Given the description of an element on the screen output the (x, y) to click on. 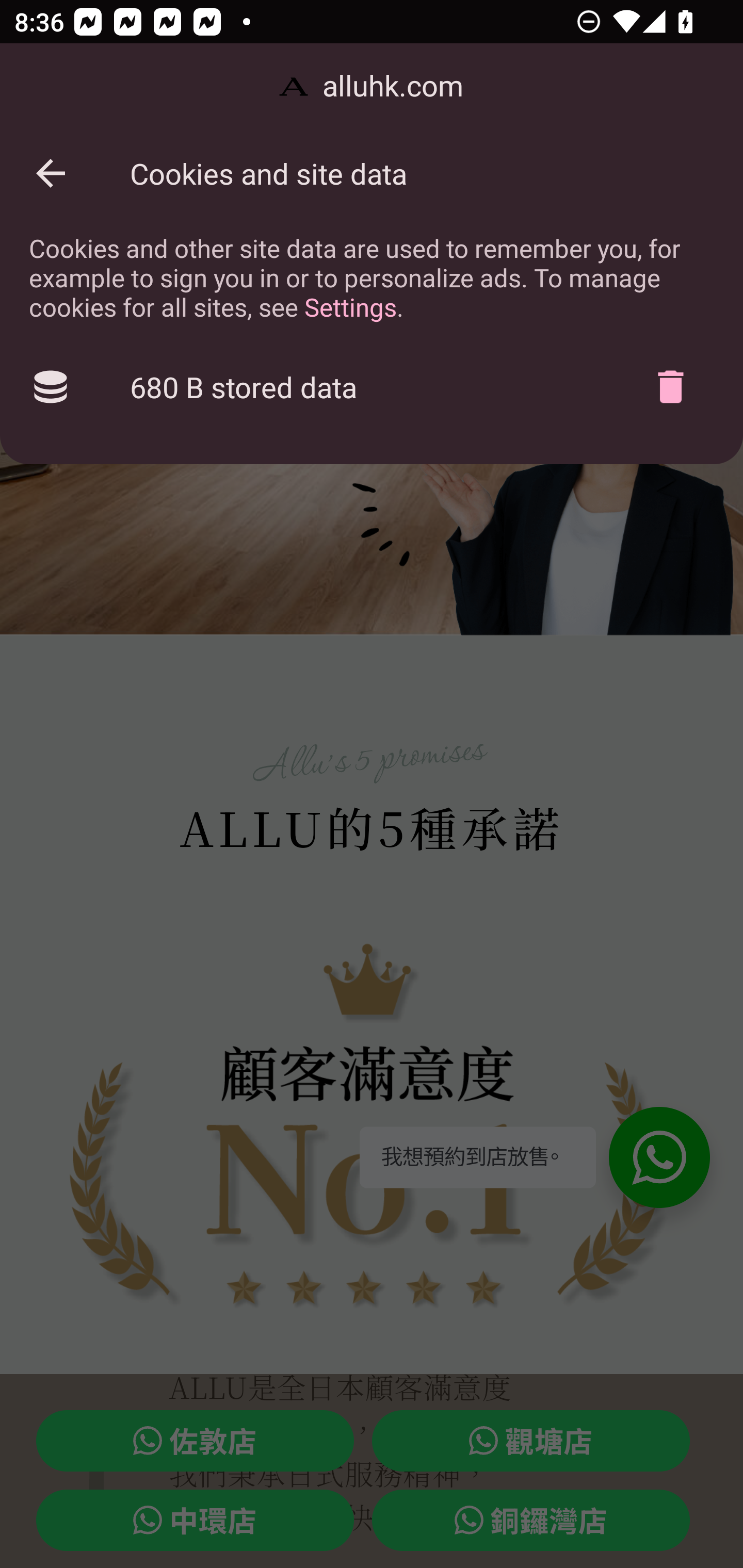
alluhk.com (371, 86)
Back (50, 173)
680 B stored data Delete cookies? (371, 386)
